Given the description of an element on the screen output the (x, y) to click on. 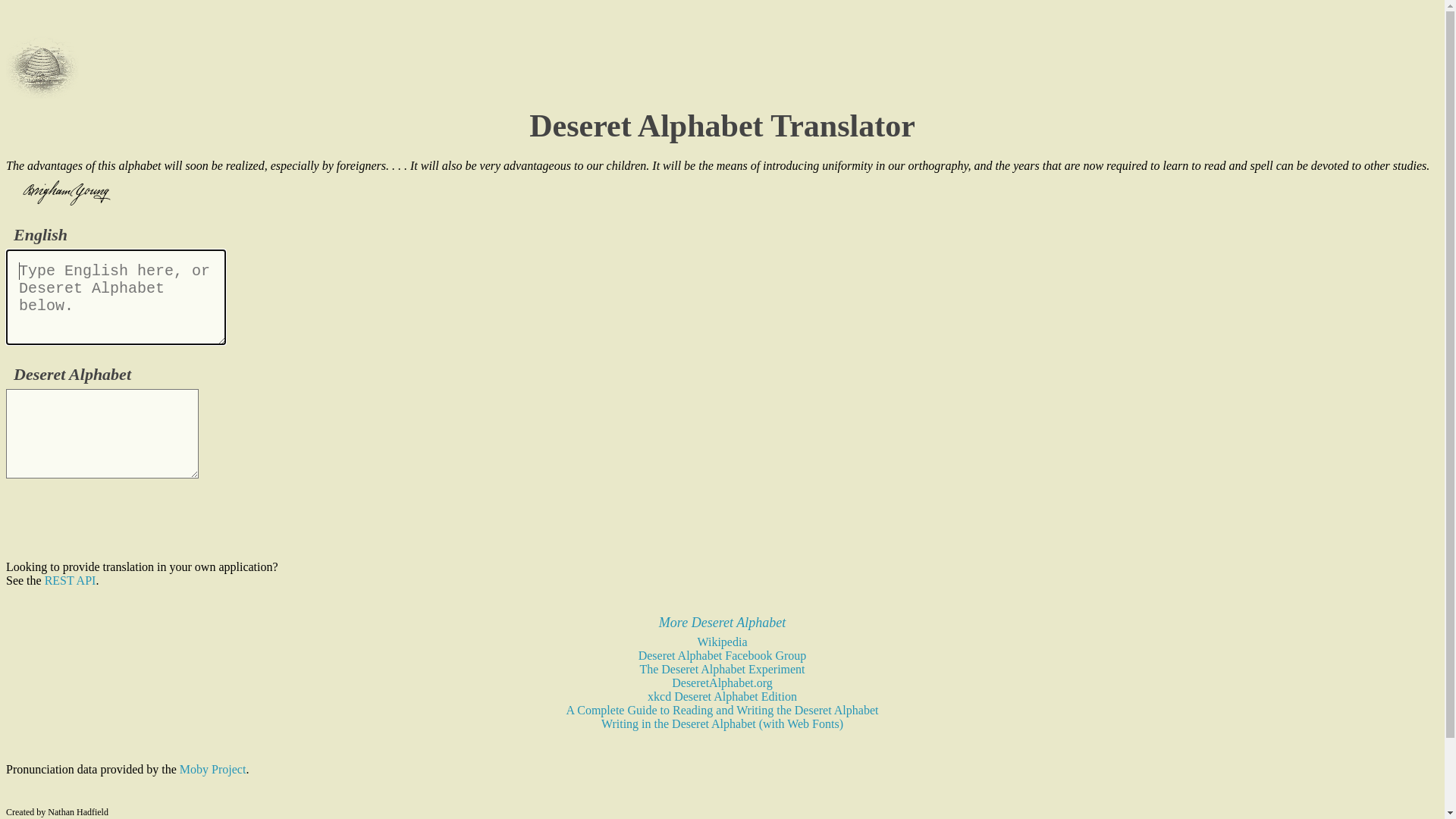
Wikipedia Element type: text (722, 641)
REST API Element type: text (70, 580)
DeseretAlphabet.org Element type: text (721, 682)
Writing in the Deseret Alphabet (with Web Fonts) Element type: text (722, 723)
A Complete Guide to Reading and Writing the Deseret Alphabet Element type: text (722, 709)
Moby Project Element type: text (212, 768)
The Deseret Alphabet Experiment Element type: text (721, 668)
xkcd Deseret Alphabet Edition Element type: text (722, 696)
Deseret Alphabet Facebook Group Element type: text (722, 655)
